Given the description of an element on the screen output the (x, y) to click on. 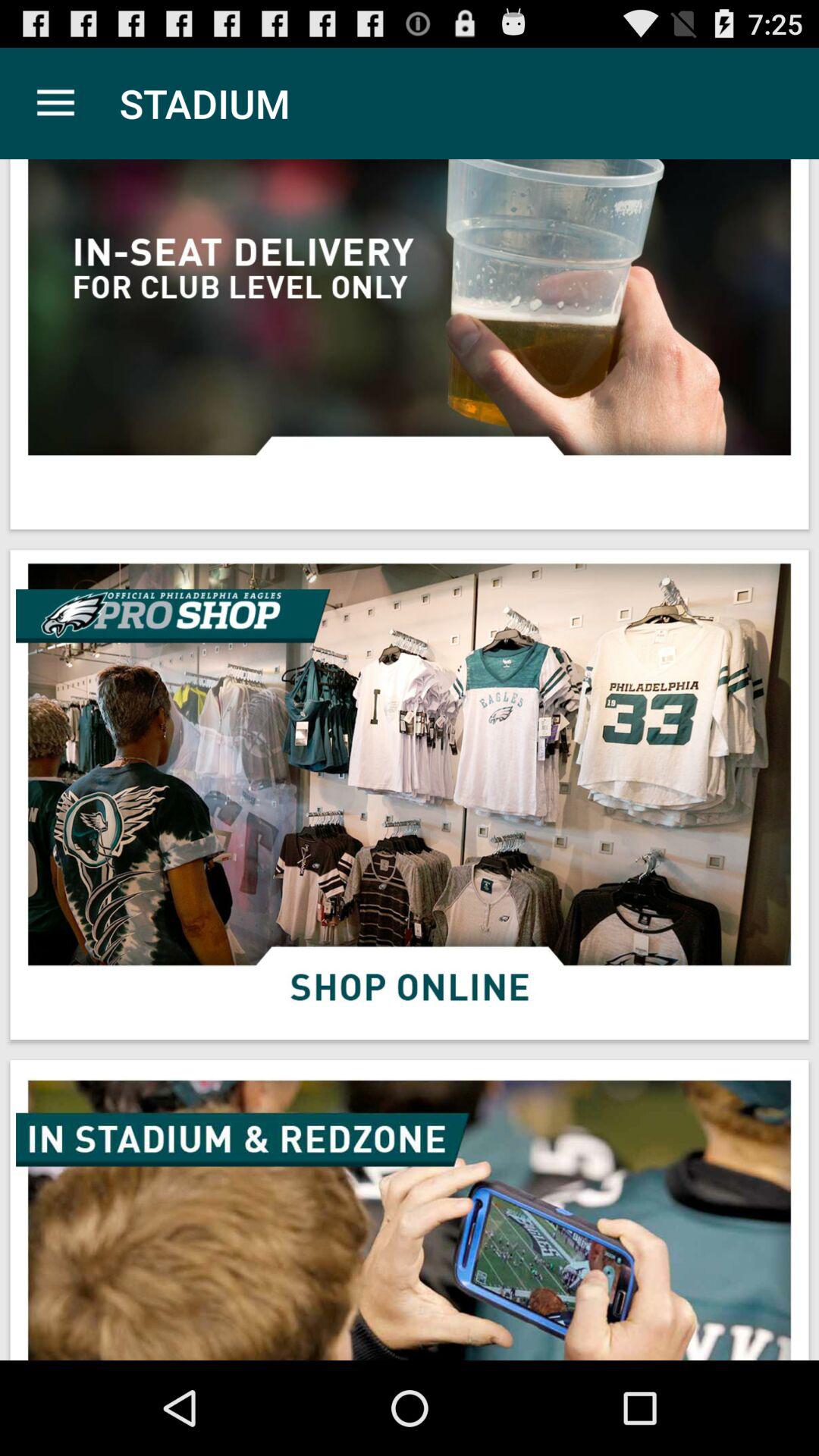
launch the app to the left of stadium item (55, 103)
